Given the description of an element on the screen output the (x, y) to click on. 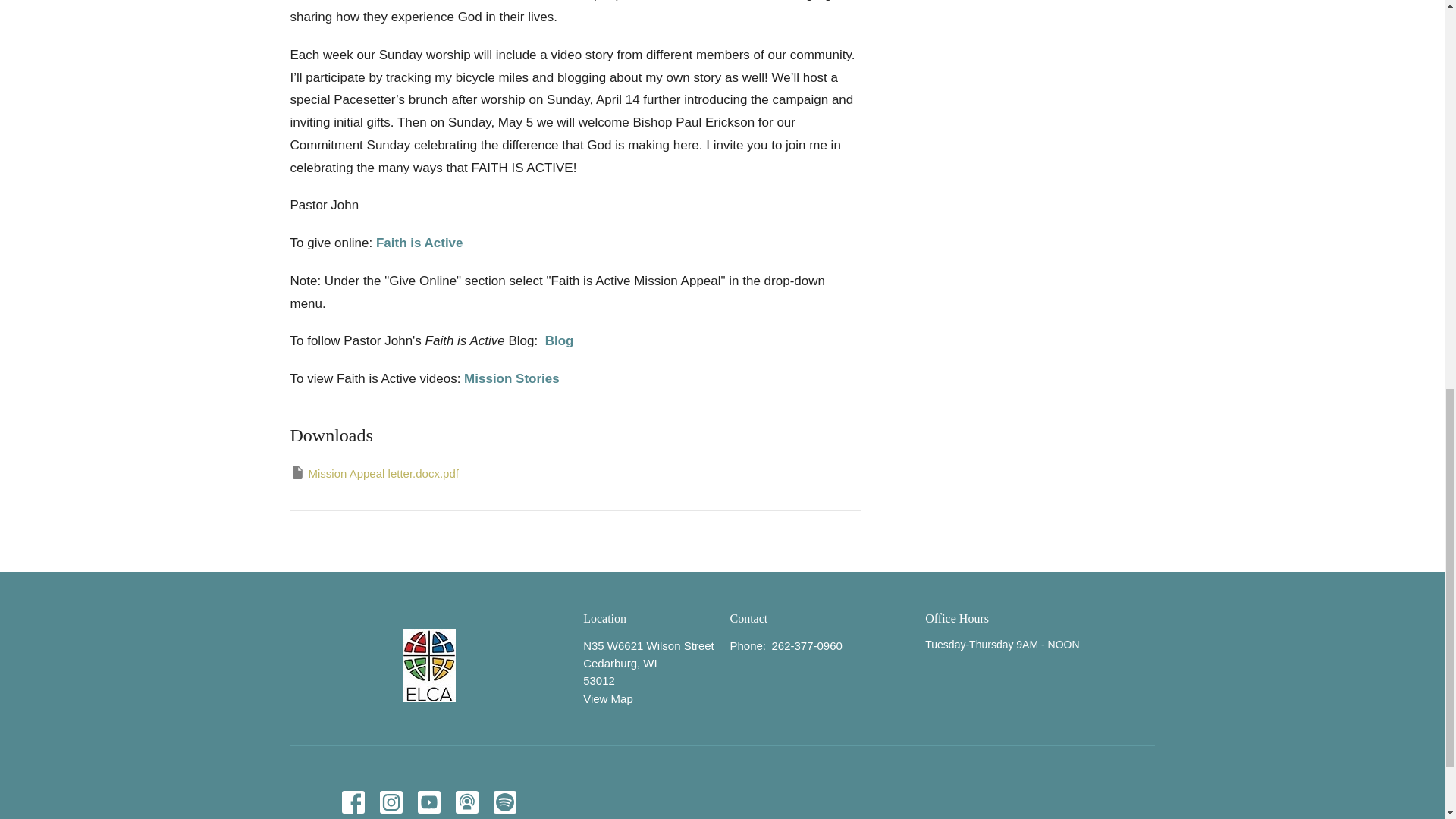
Mission Stories (511, 378)
View Map (608, 698)
Faith is Active (419, 242)
262-377-0960 (806, 645)
Blog (558, 340)
Mission Appeal letter.docx.pdf (373, 473)
To download, right-click the file and select "Save link as". (373, 473)
